Given the description of an element on the screen output the (x, y) to click on. 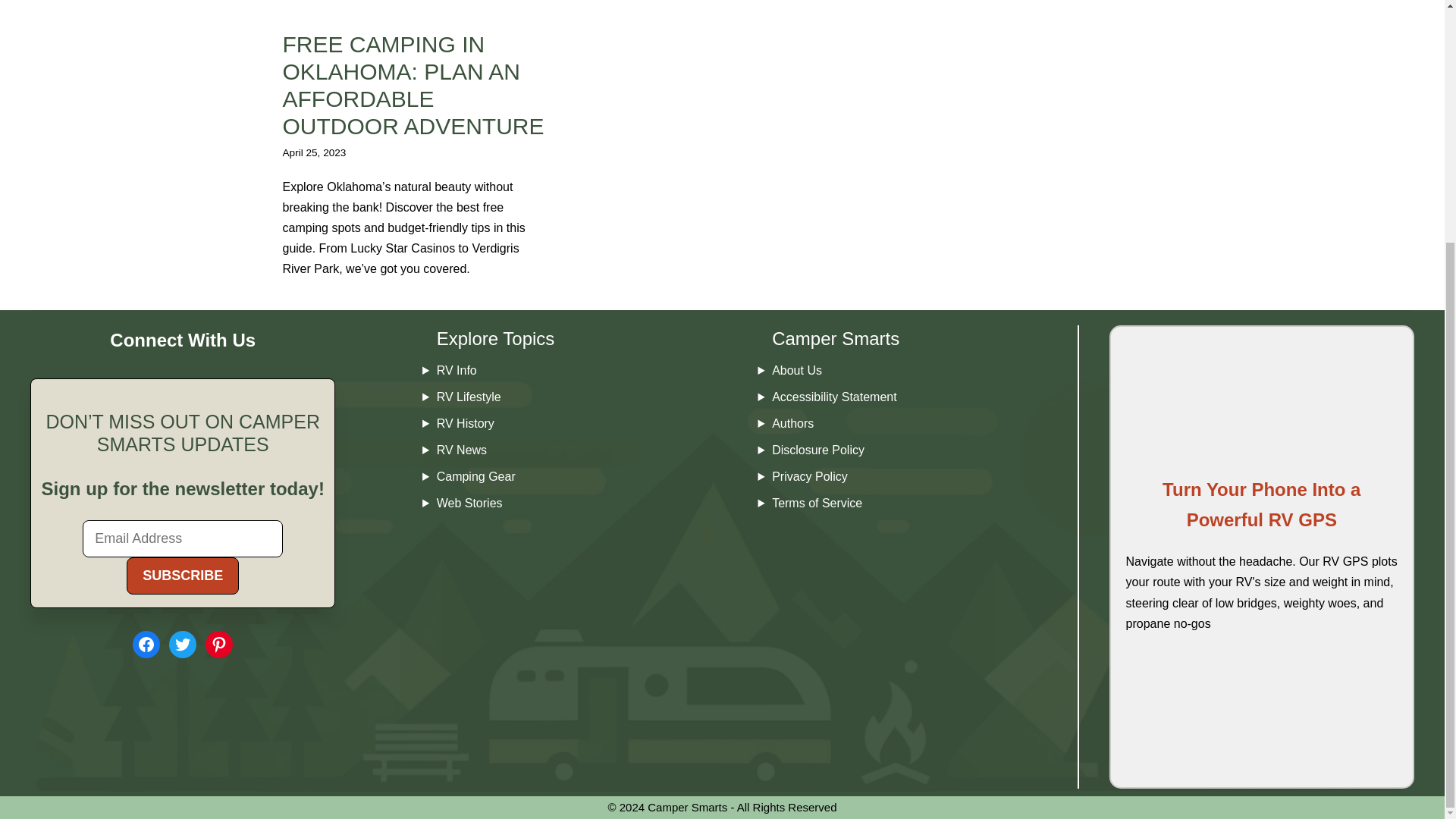
Privacy Policy (809, 476)
RV History (465, 422)
Pinterest (218, 644)
About Us (796, 369)
Terms of Service (816, 502)
Disclosure Policy (817, 449)
Authors (792, 422)
Subscribe (182, 575)
RV News (461, 449)
Subscribe (182, 575)
Accessibility Statement (833, 396)
RV Lifestyle (468, 396)
Camping Gear (475, 476)
Follow Us On Facebook (146, 644)
